Given the description of an element on the screen output the (x, y) to click on. 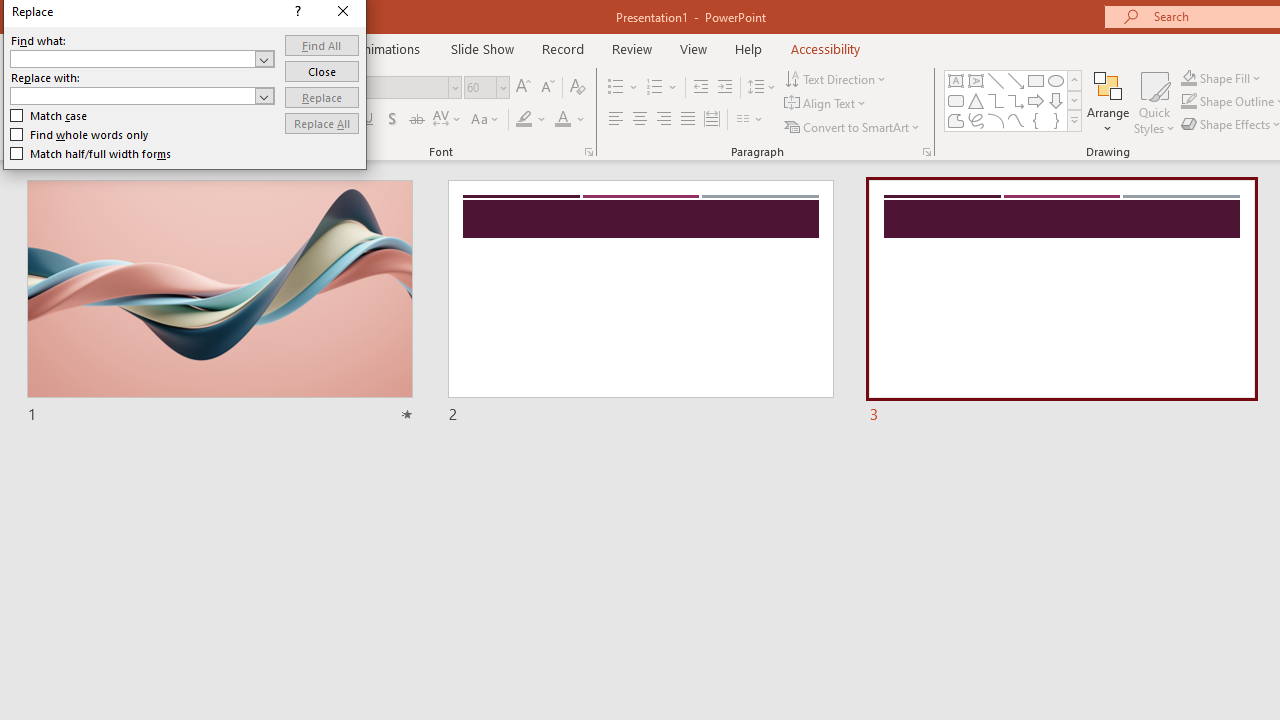
Text Direction (836, 78)
Connector: Elbow (995, 100)
Convert to SmartArt (853, 126)
Font Color (569, 119)
Quick Styles (1154, 102)
Right Brace (1055, 120)
Character Spacing (447, 119)
Increase Font Size (522, 87)
Font... (588, 151)
